Given the description of an element on the screen output the (x, y) to click on. 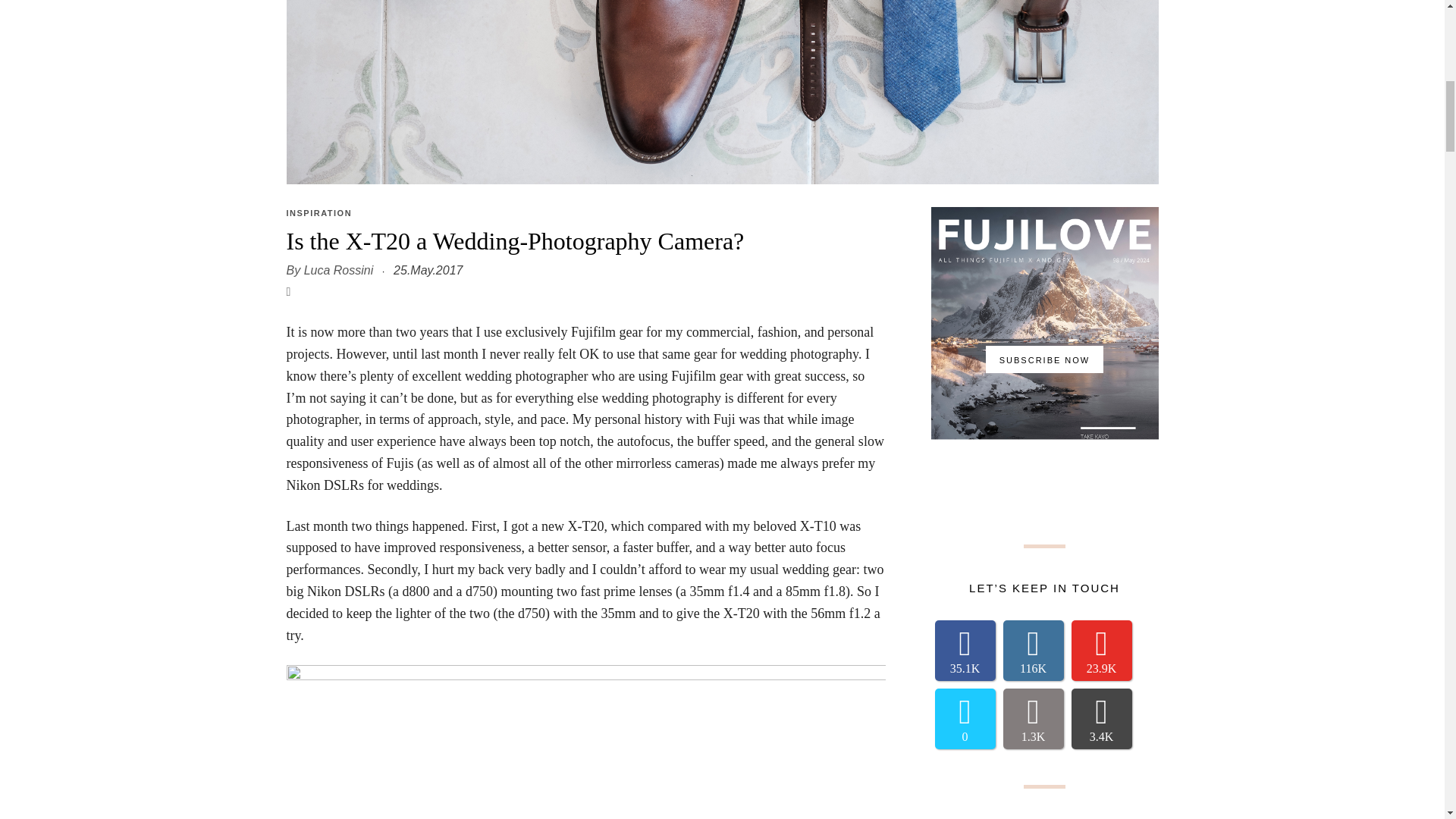
Posts by Luca Rossini (339, 269)
INSPIRATION (319, 212)
25.May.2017 (428, 269)
Luca Rossini (339, 269)
